Given the description of an element on the screen output the (x, y) to click on. 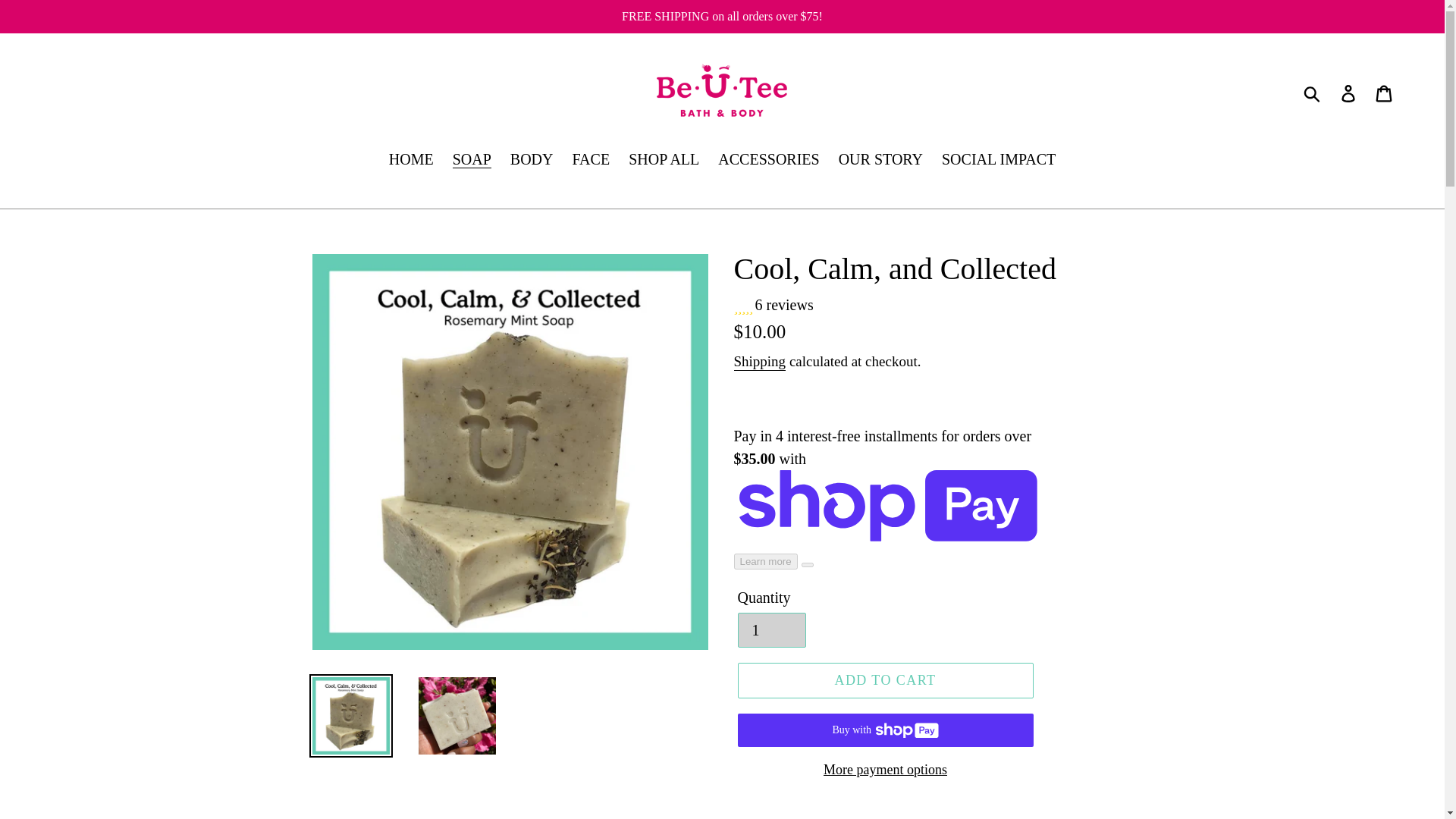
SHOP ALL (663, 160)
Log in (1349, 91)
BODY (531, 160)
ACCESSORIES (768, 160)
FACE (590, 160)
HOME (411, 160)
SOAP (472, 160)
Cart (1385, 91)
Shipping (759, 361)
Submit (1313, 91)
1 (770, 629)
OUR STORY (880, 160)
SOCIAL IMPACT (998, 160)
More payment options (884, 770)
ADD TO CART (884, 680)
